Given the description of an element on the screen output the (x, y) to click on. 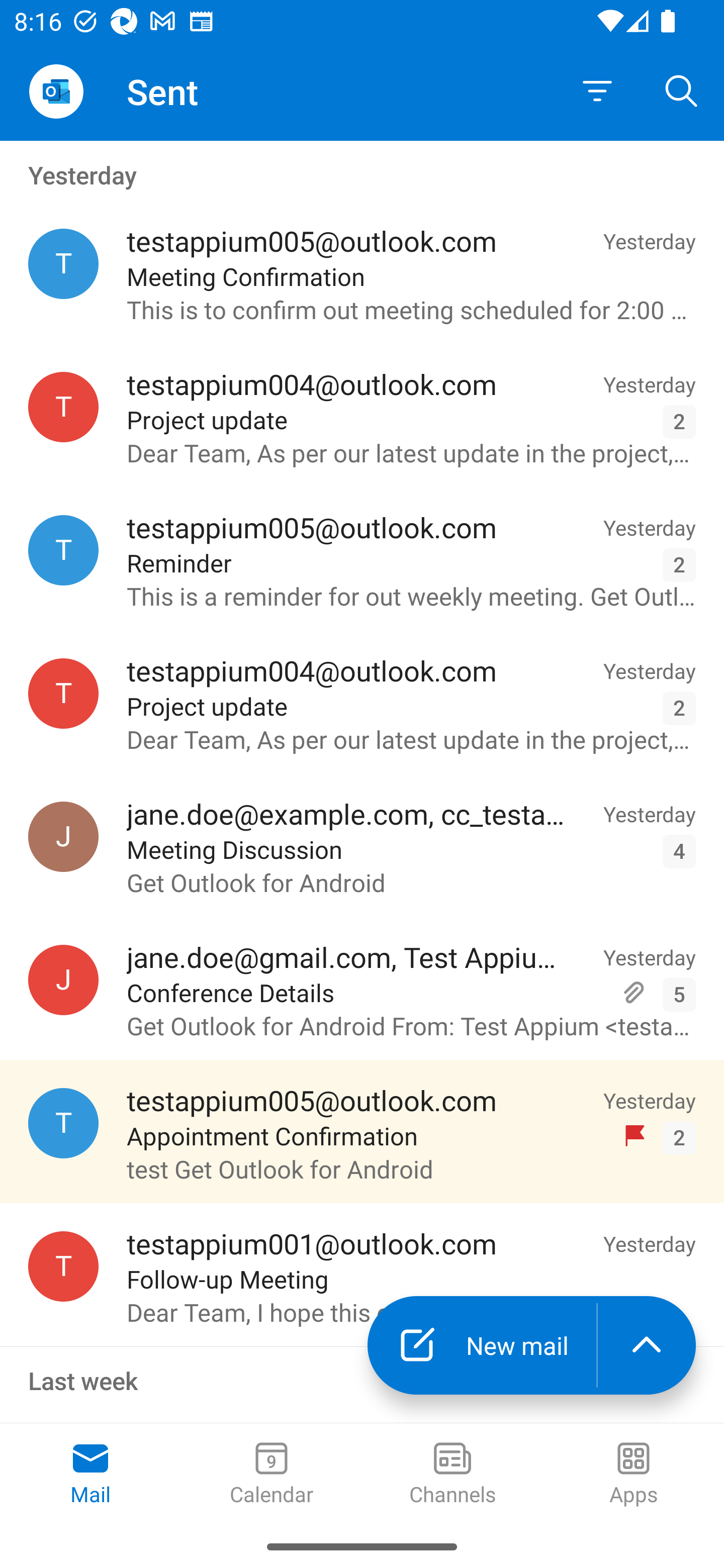
Search, ,  (681, 90)
Open Navigation Drawer (55, 91)
Filter (597, 91)
jane.doe@example.com, jane.doe@example.com (63, 836)
jane.doe@gmail.com, jane.doe@gmail.com (63, 979)
New mail (481, 1344)
launch the extended action menu (646, 1344)
Calendar (271, 1474)
Channels (452, 1474)
Apps (633, 1474)
